Given the description of an element on the screen output the (x, y) to click on. 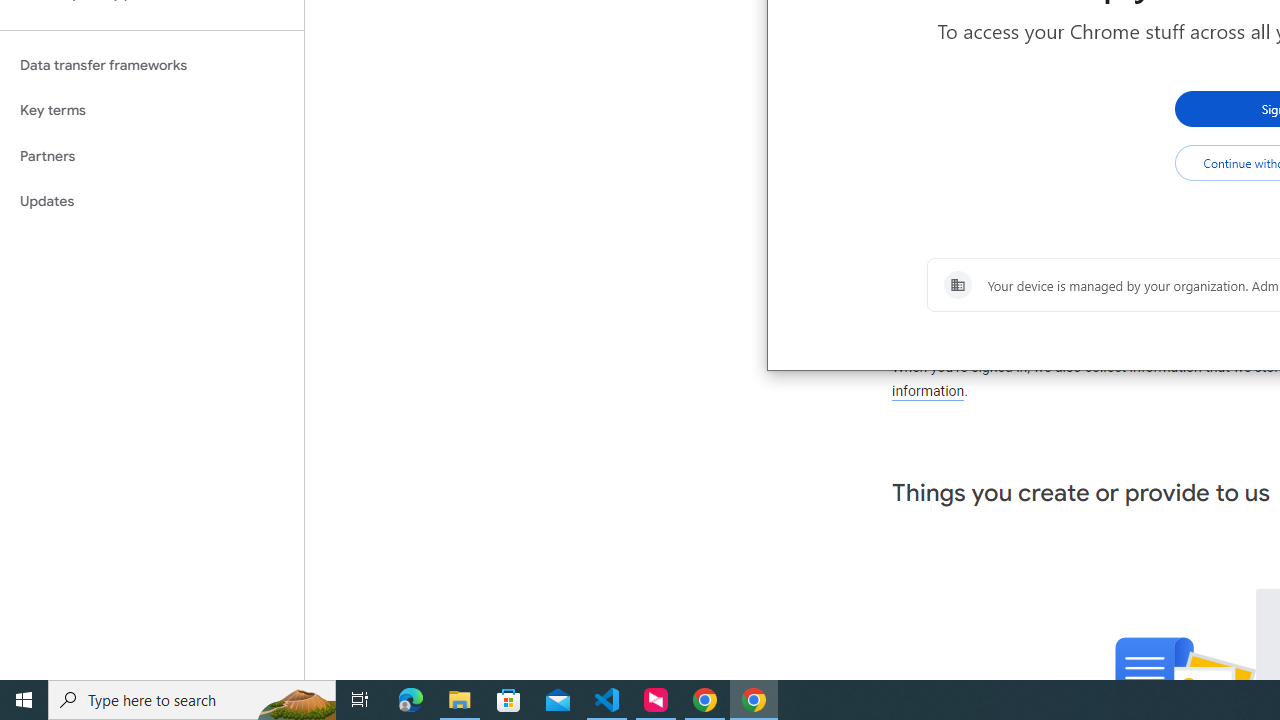
Type here to search (191, 699)
